Given the description of an element on the screen output the (x, y) to click on. 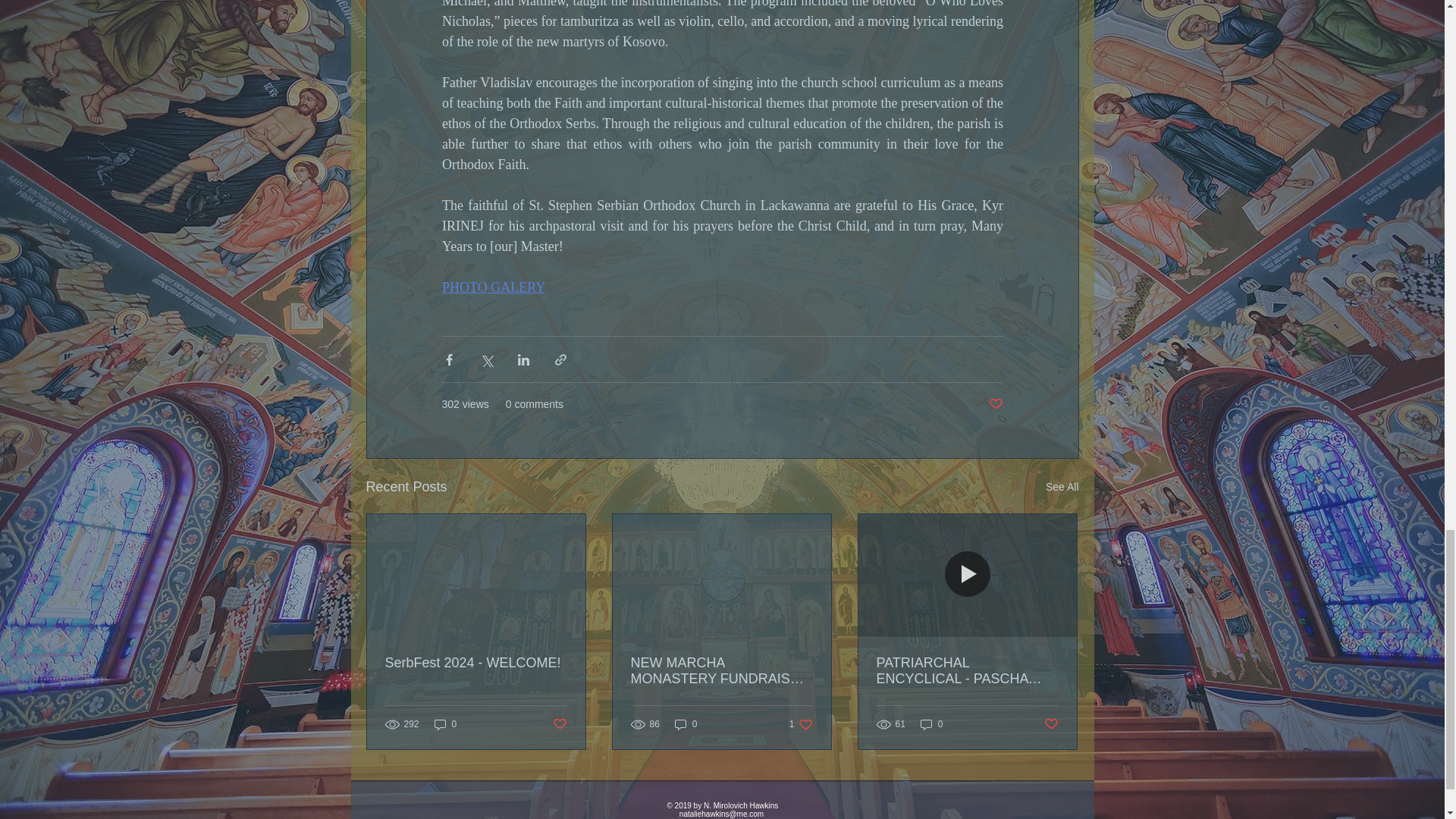
Post not marked as liked (558, 723)
Post not marked as liked (995, 404)
PHOTO GALERY (492, 287)
See All (1061, 486)
SerbFest 2024 - WELCOME! (476, 662)
0 (445, 724)
